Given the description of an element on the screen output the (x, y) to click on. 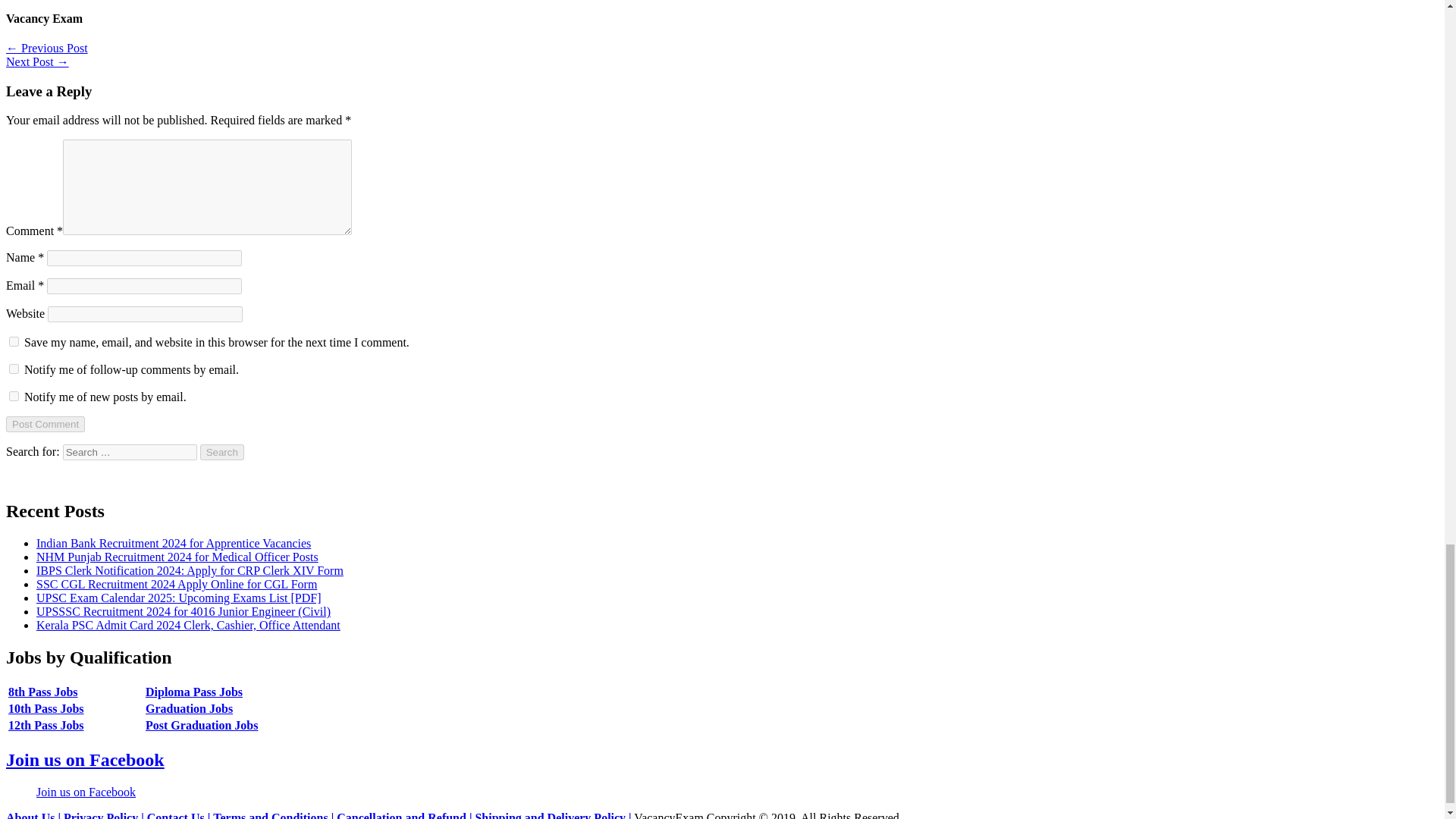
yes (13, 341)
Post Comment (44, 424)
Search (222, 452)
SSC CGL Recruitment 2024 Apply Online for CGL Form (176, 584)
IBPS Clerk Notification 2024: Apply for CRP Clerk XIV Form (189, 570)
OPSC Recruitment 2021 for Post Graduate Teachers (36, 61)
HDFC Bank Recruitment 2021 Apply Online for Latest Bank Jobs (46, 47)
Indian Bank Recruitment 2024 for Apprentice Vacancies (173, 543)
Search (222, 452)
Search (222, 452)
Post Comment (44, 424)
NHM Punjab Recruitment 2024 for Medical Officer Posts (177, 556)
subscribe (13, 368)
subscribe (13, 396)
